Given the description of an element on the screen output the (x, y) to click on. 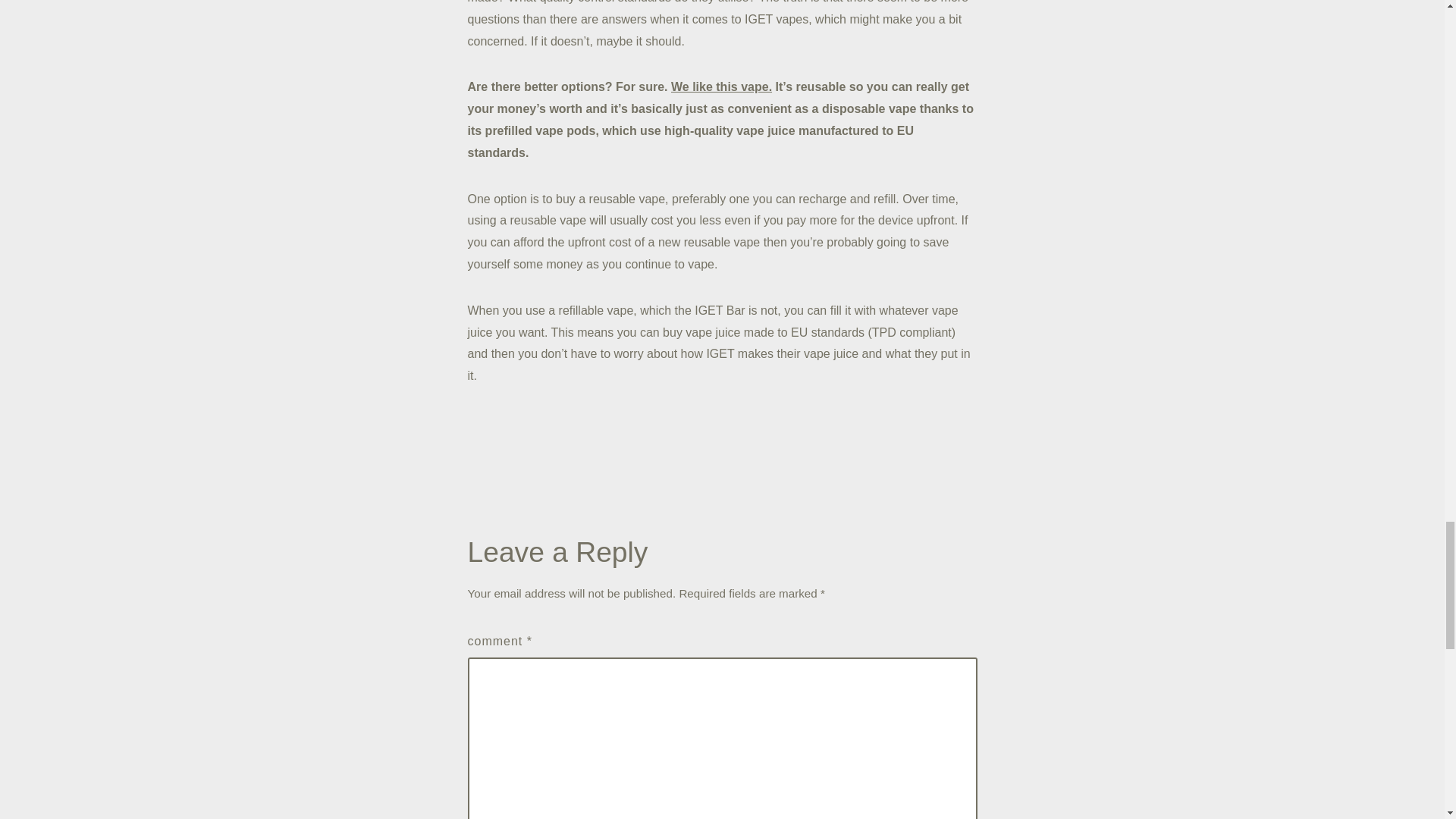
We like this vape. (721, 86)
